Given the description of an element on the screen output the (x, y) to click on. 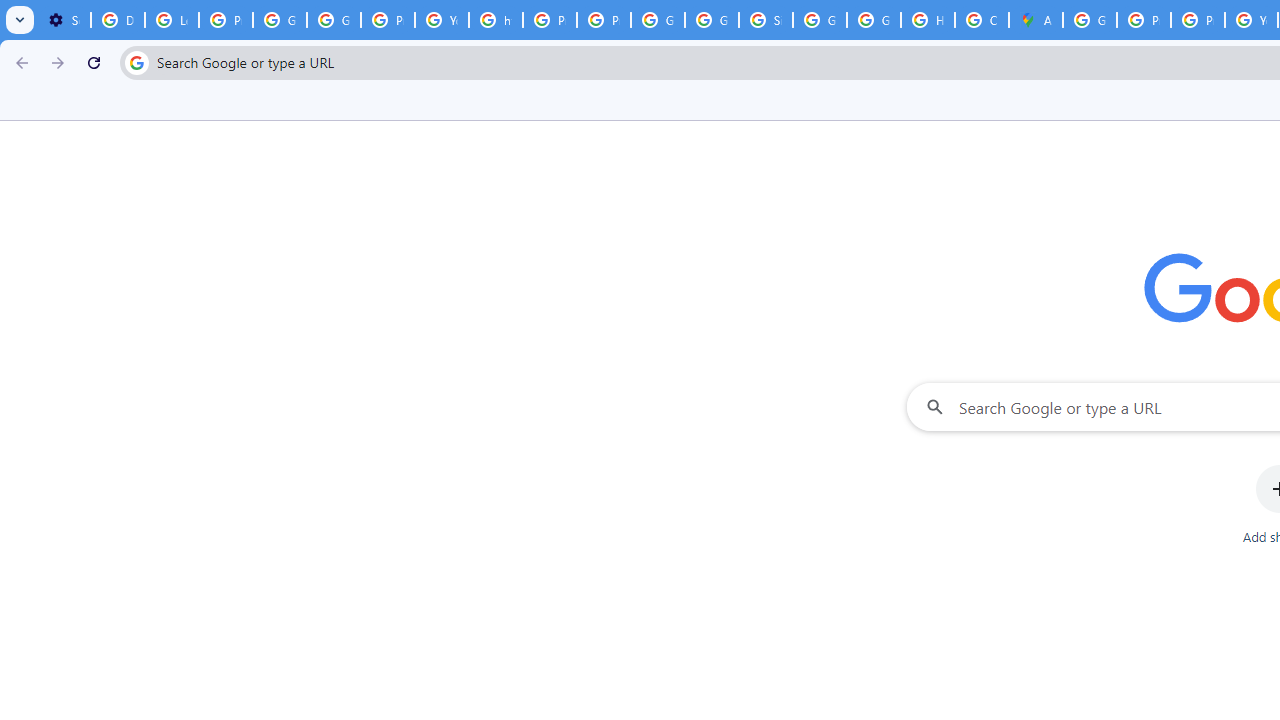
YouTube (441, 20)
Privacy Help Center - Policies Help (550, 20)
Delete photos & videos - Computer - Google Photos Help (117, 20)
